Given the description of an element on the screen output the (x, y) to click on. 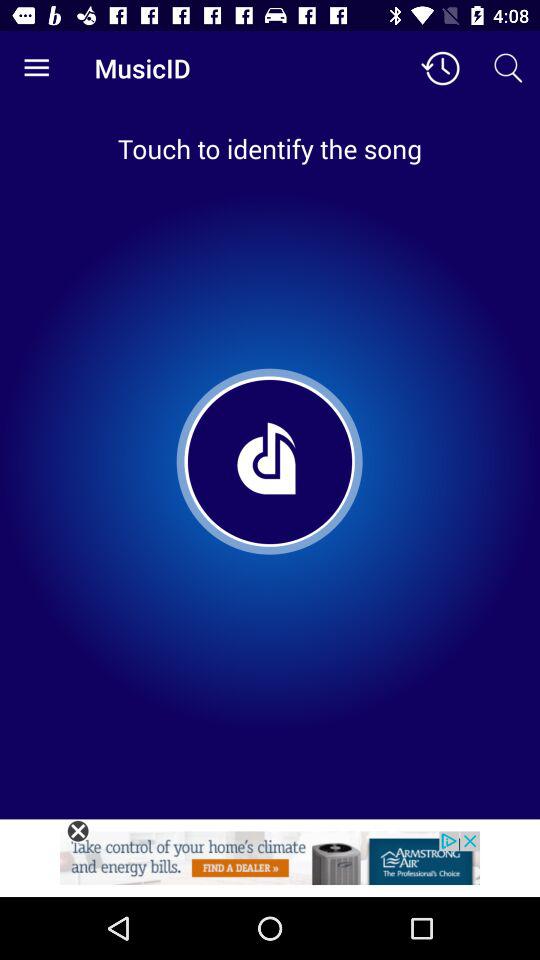
close the advertisement (78, 831)
